Given the description of an element on the screen output the (x, y) to click on. 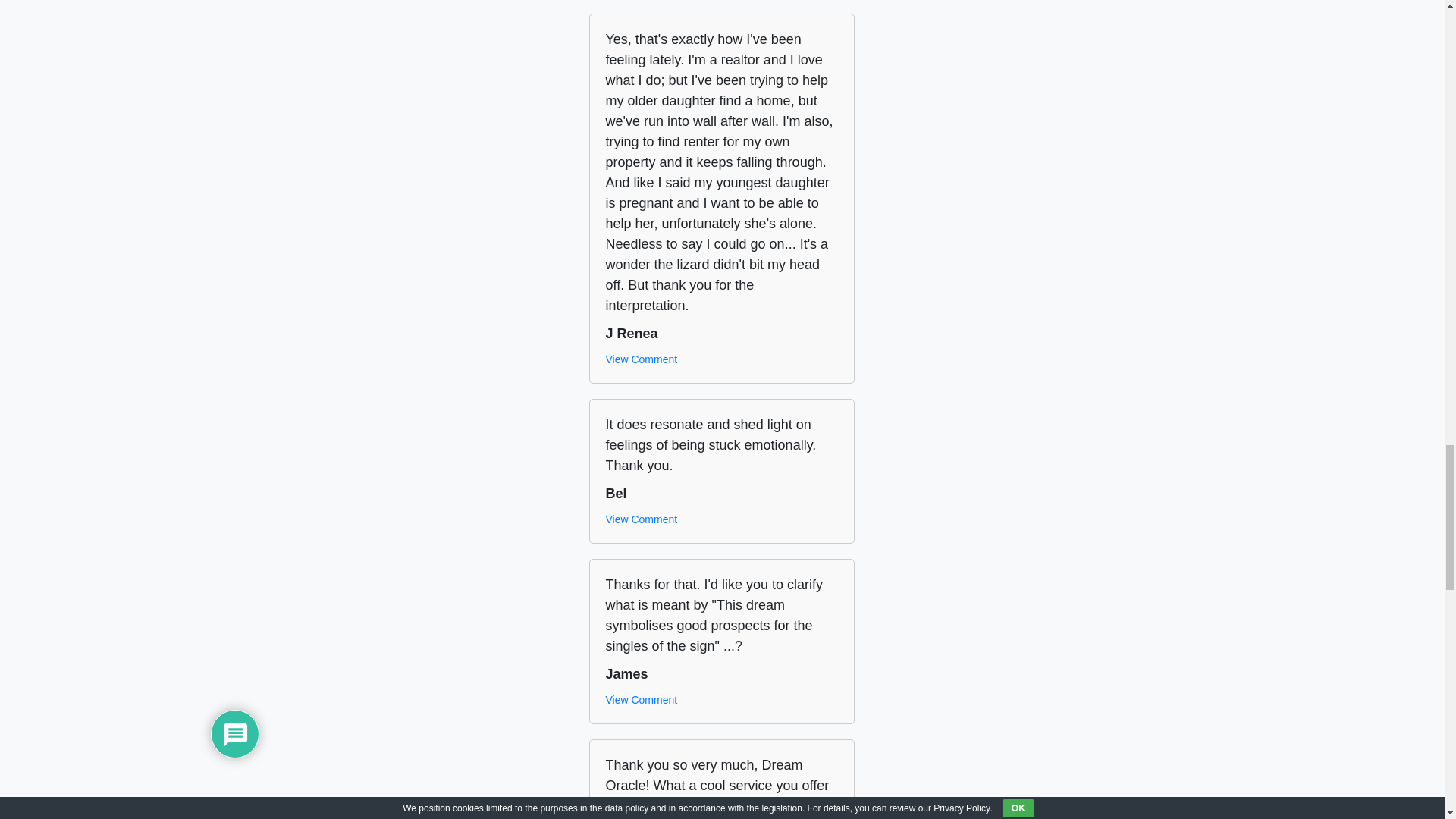
View Comment (641, 359)
View Comment (641, 700)
View Comment (641, 519)
